Given the description of an element on the screen output the (x, y) to click on. 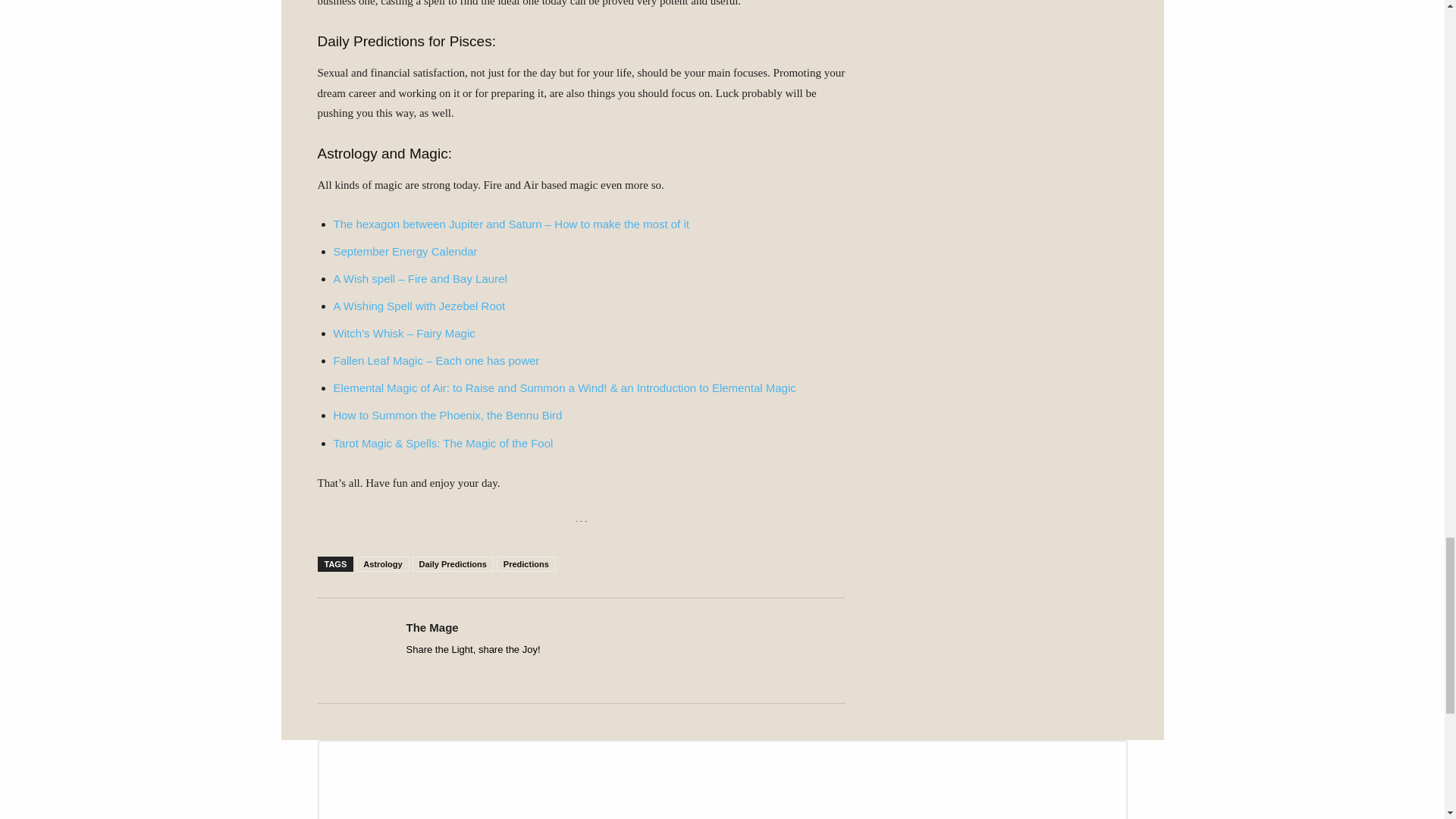
September Energy Calendar (405, 250)
Astrology (382, 563)
How to Summon the Phoenix, the Bennu Bird (447, 414)
A Wishing Spell with Jezebel Root (419, 305)
